Given the description of an element on the screen output the (x, y) to click on. 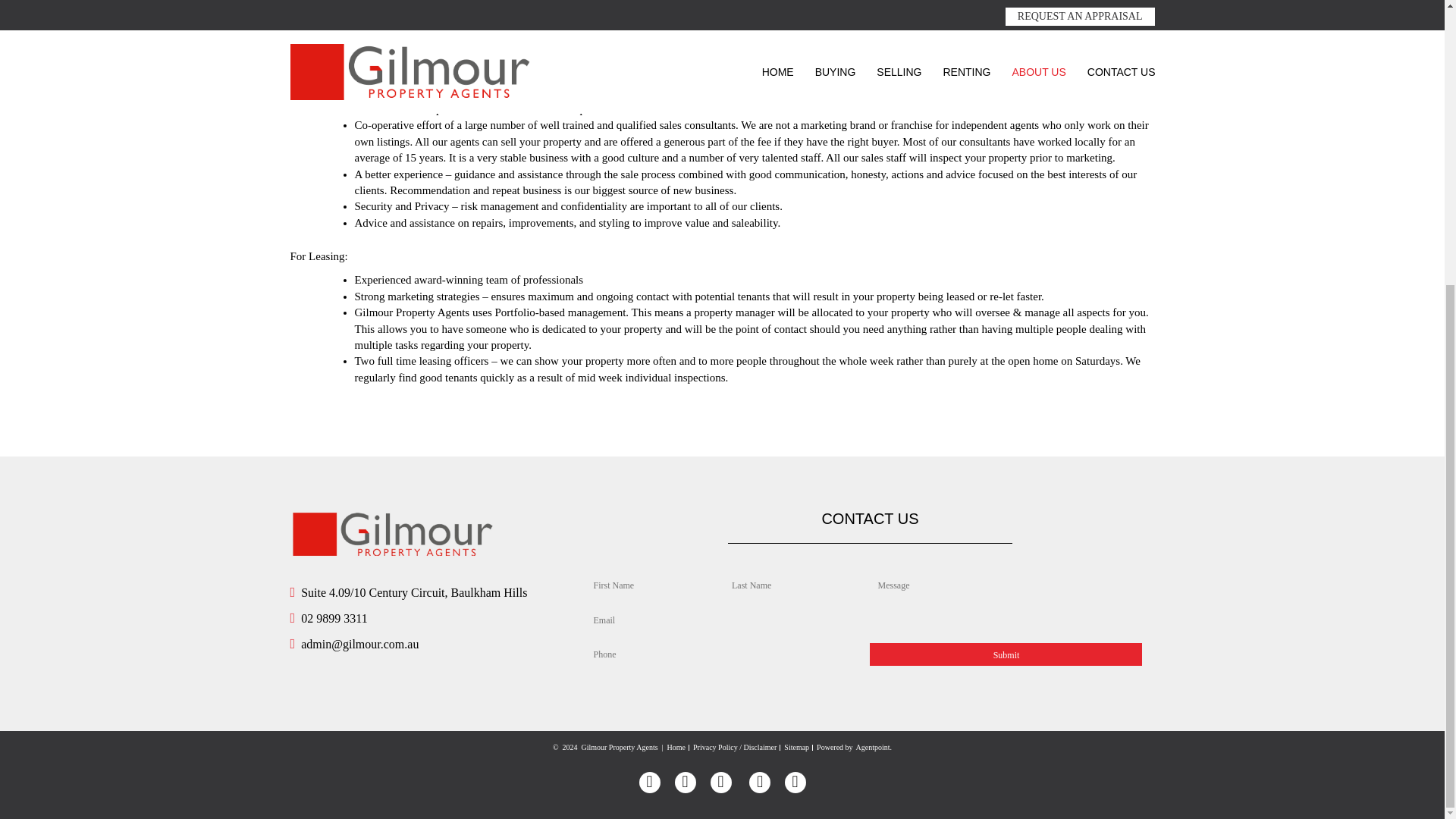
Home (675, 746)
Agentpoint (872, 747)
02 9899 3311 (327, 617)
Sitemap (796, 746)
Submit (1005, 653)
Submit (1005, 653)
